Given the description of an element on the screen output the (x, y) to click on. 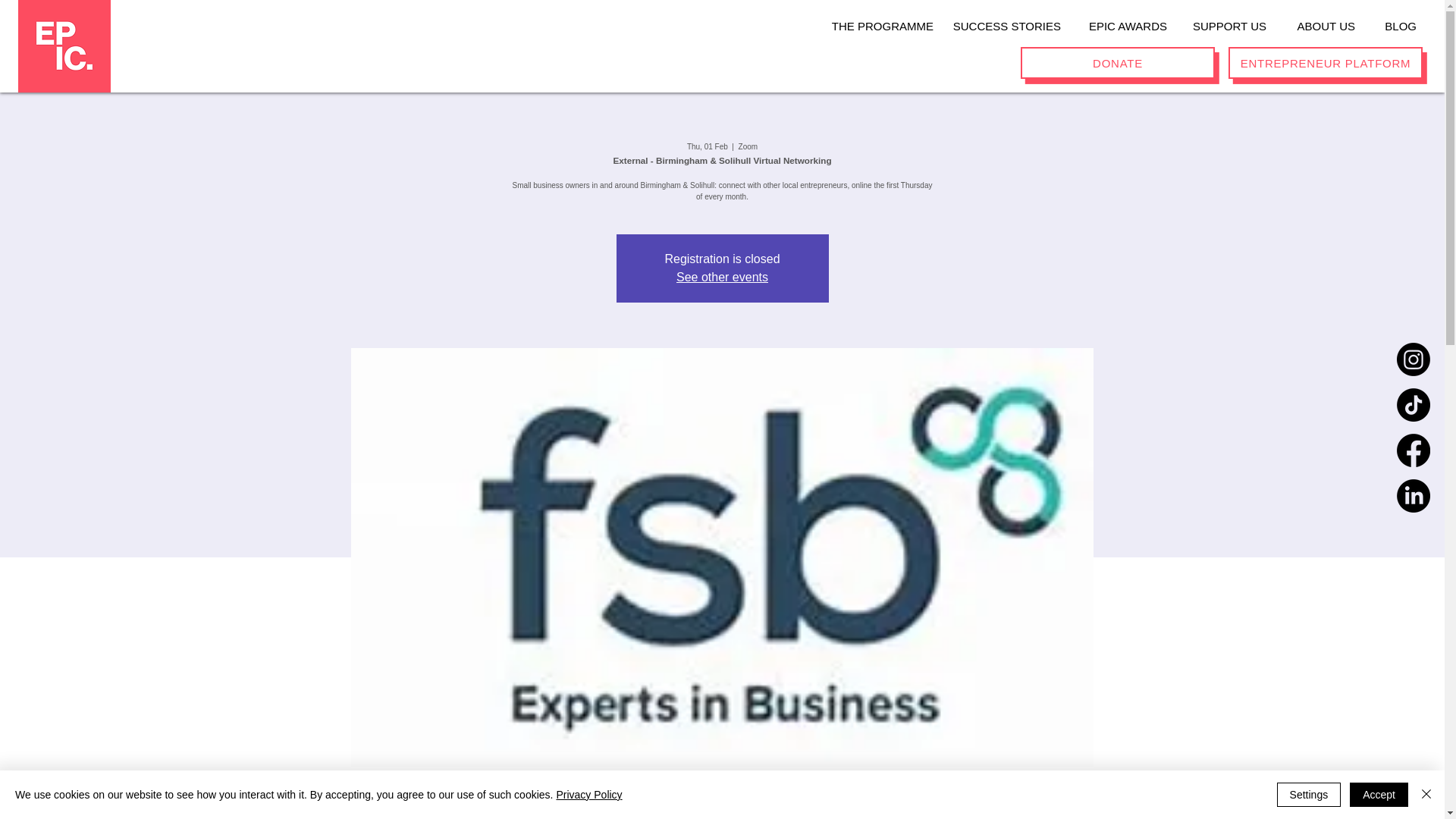
SUCCESS STORIES (1003, 19)
Settings (1308, 794)
See other events (722, 277)
THE PROGRAMME (875, 19)
Accept (1378, 794)
ABOUT US (1316, 19)
SUPPORT US (1222, 19)
Privacy Policy (588, 794)
EPIC AWARDS (1120, 19)
DONATE (1117, 62)
ENTREPRENEUR PLATFORM (1325, 62)
BLOG (1391, 19)
